Given the description of an element on the screen output the (x, y) to click on. 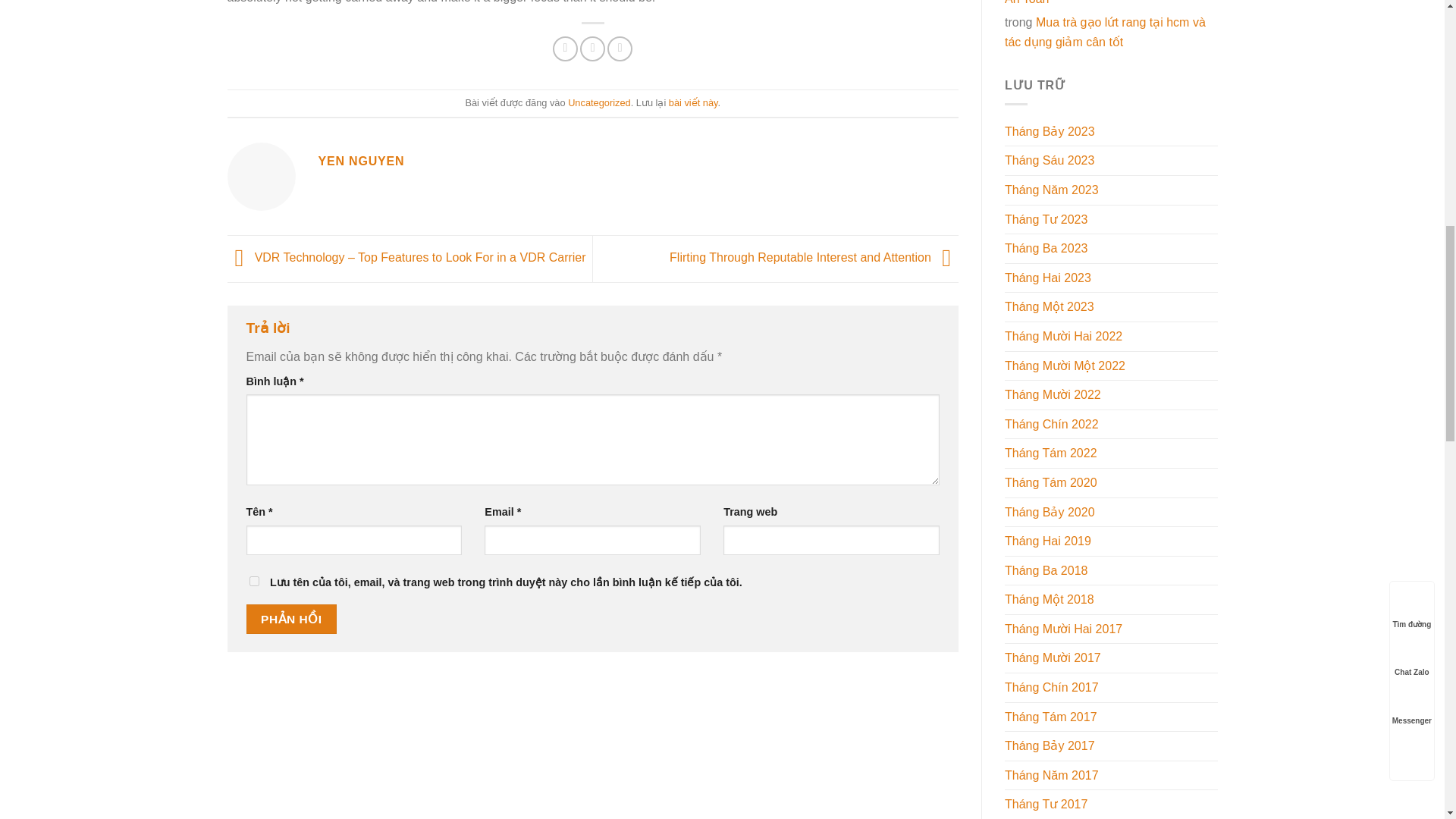
Permalink to Astrology and Online dating sites (692, 102)
yes (253, 581)
